Given the description of an element on the screen output the (x, y) to click on. 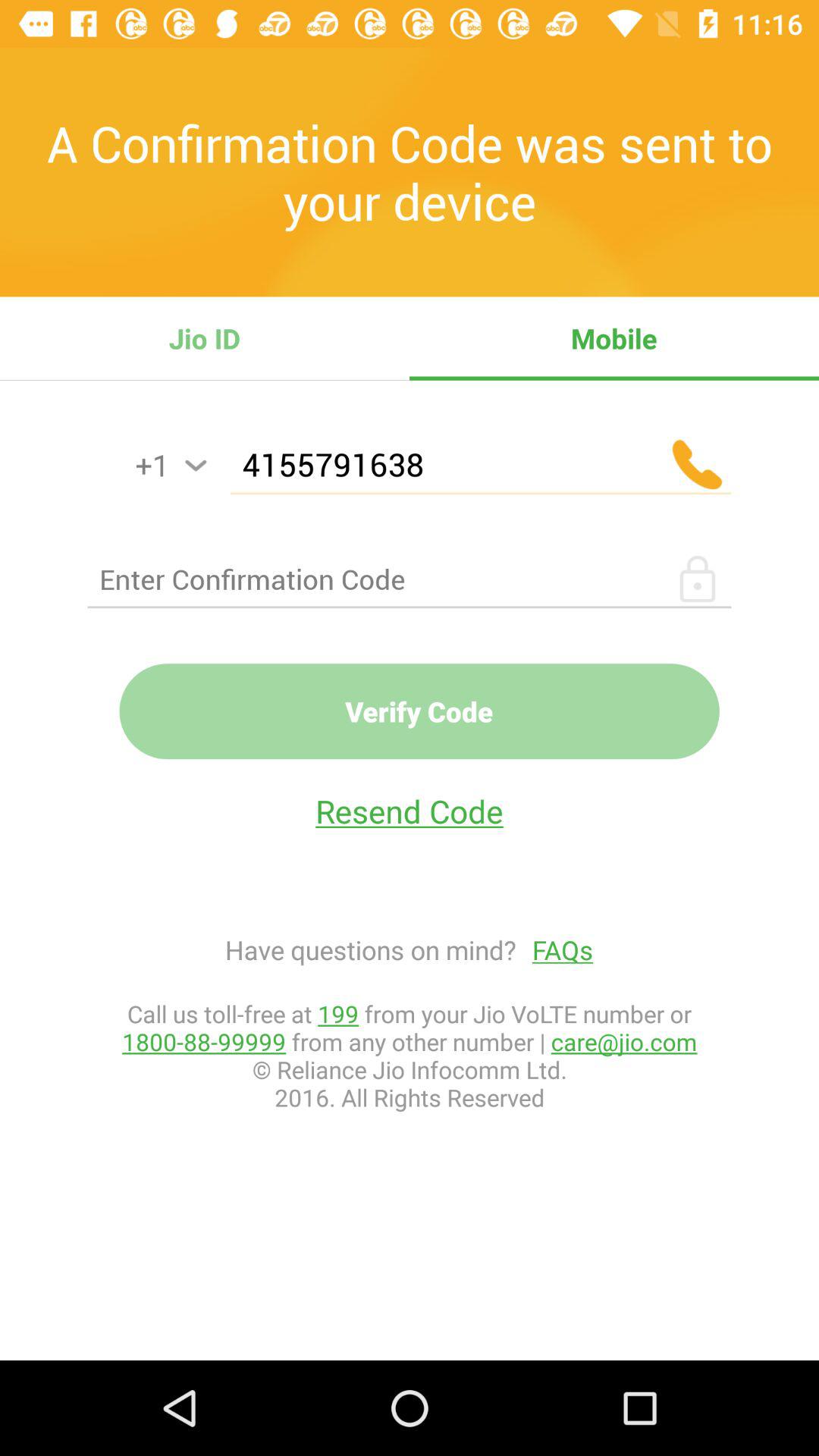
flip to the call us toll icon (409, 1055)
